Given the description of an element on the screen output the (x, y) to click on. 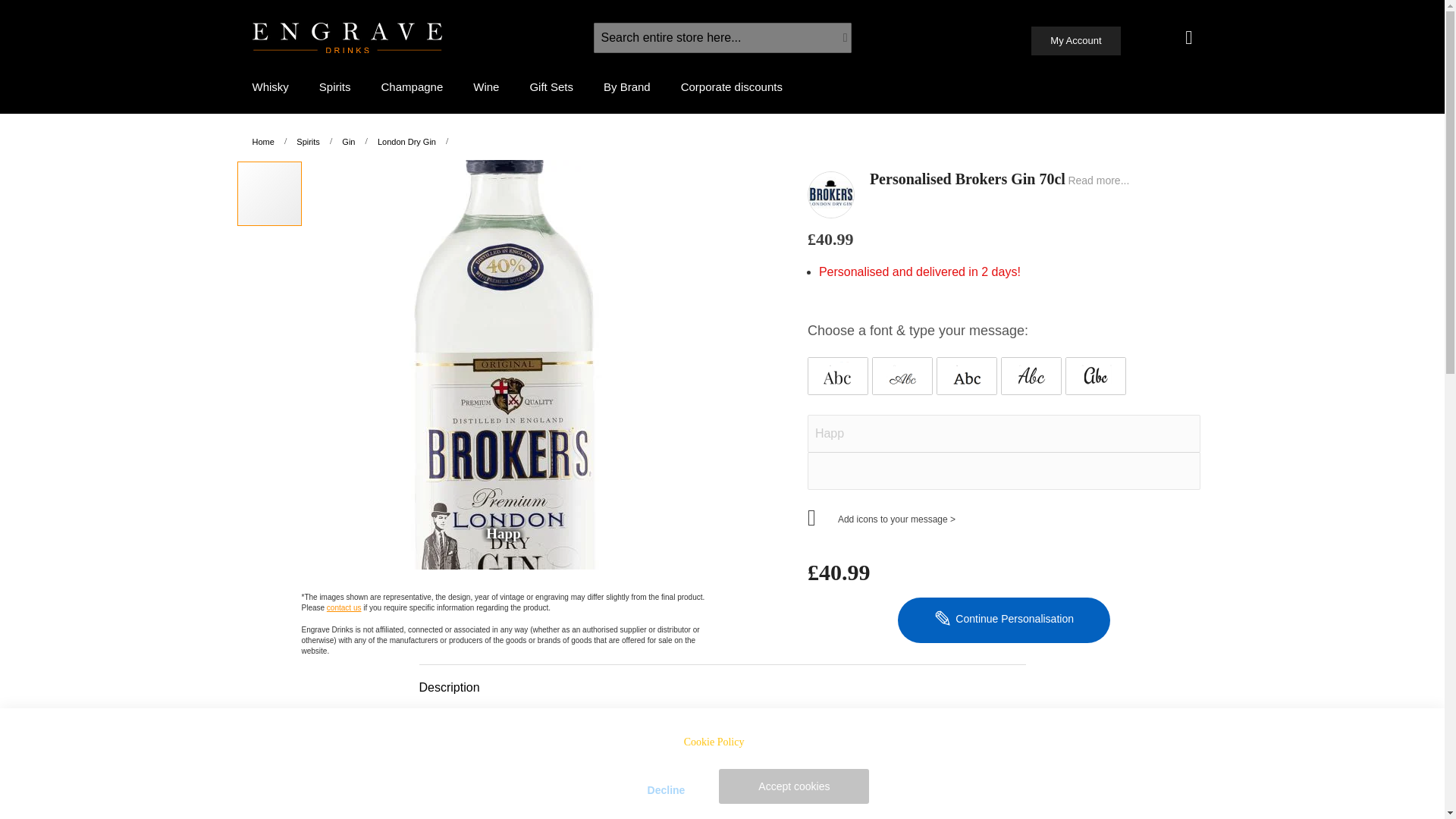
Whisky (268, 86)
My Account (1074, 40)
Whisky (268, 86)
EngraveDrinks Logo (346, 37)
